Given the description of an element on the screen output the (x, y) to click on. 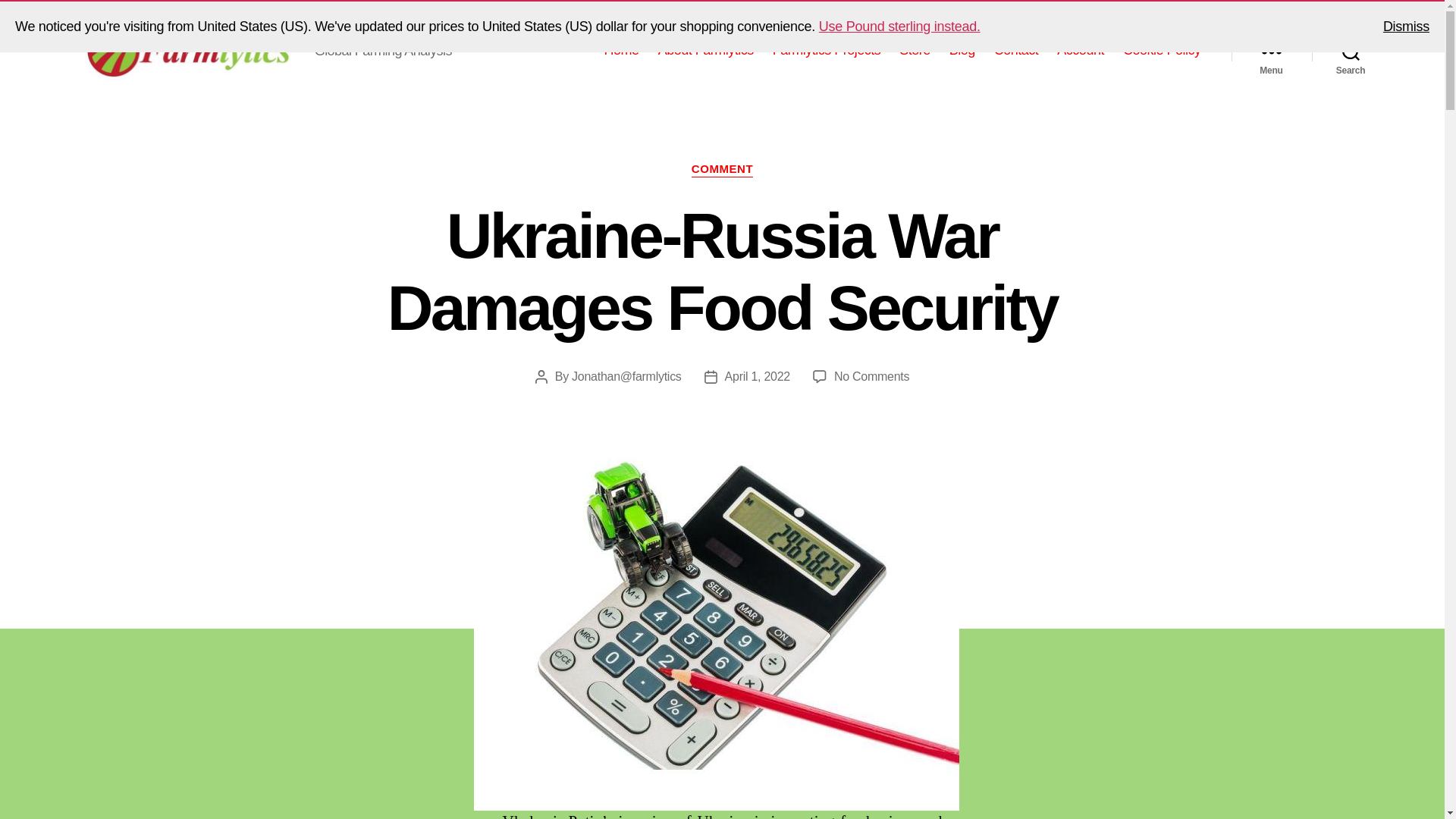
Account (1080, 50)
April 1, 2022 (757, 376)
Home (621, 50)
Cookie Policy (1161, 50)
Menu (1271, 50)
Farmlytics Projects (826, 50)
COMMENT (721, 169)
About Farmlytics (706, 50)
Blog (962, 50)
Contact (1016, 50)
Search (871, 376)
Store (1350, 50)
